Given the description of an element on the screen output the (x, y) to click on. 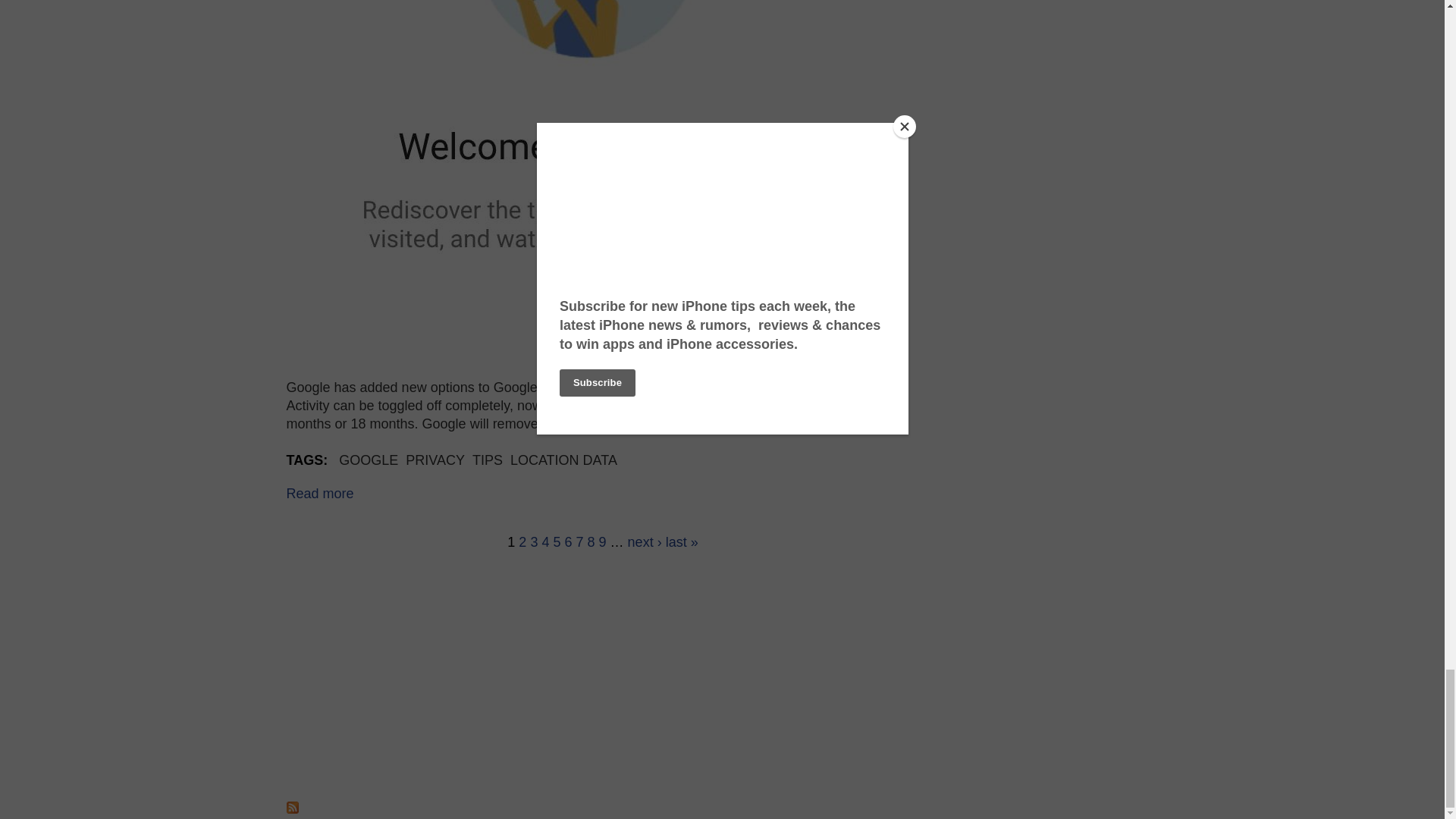
Go to page 3 (533, 541)
Go to page 5 (556, 541)
TIPS (486, 459)
GOOGLE (368, 459)
Go to page 2 (521, 541)
PRIVACY (435, 459)
Go to page 6 (568, 541)
2 (521, 541)
LOCATION DATA (564, 459)
Go to page 4 (544, 541)
How to automatically delete your Google history data (319, 493)
